Given the description of an element on the screen output the (x, y) to click on. 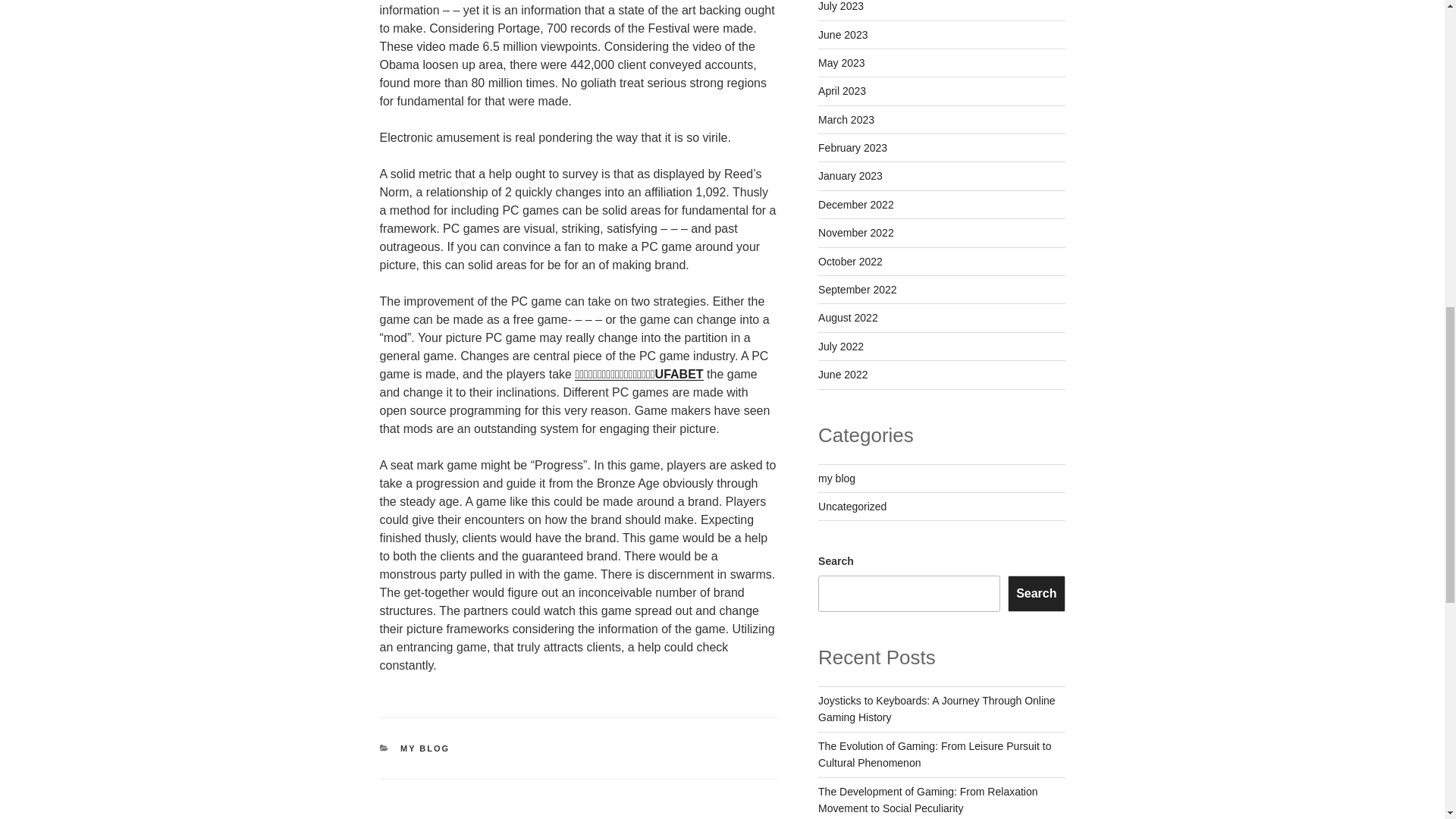
May 2023 (841, 62)
March 2023 (846, 119)
MY BLOG (424, 747)
February 2023 (852, 147)
November 2022 (855, 232)
October 2022 (850, 261)
January 2023 (850, 175)
June 2023 (842, 34)
July 2023 (840, 6)
December 2022 (855, 204)
